Given the description of an element on the screen output the (x, y) to click on. 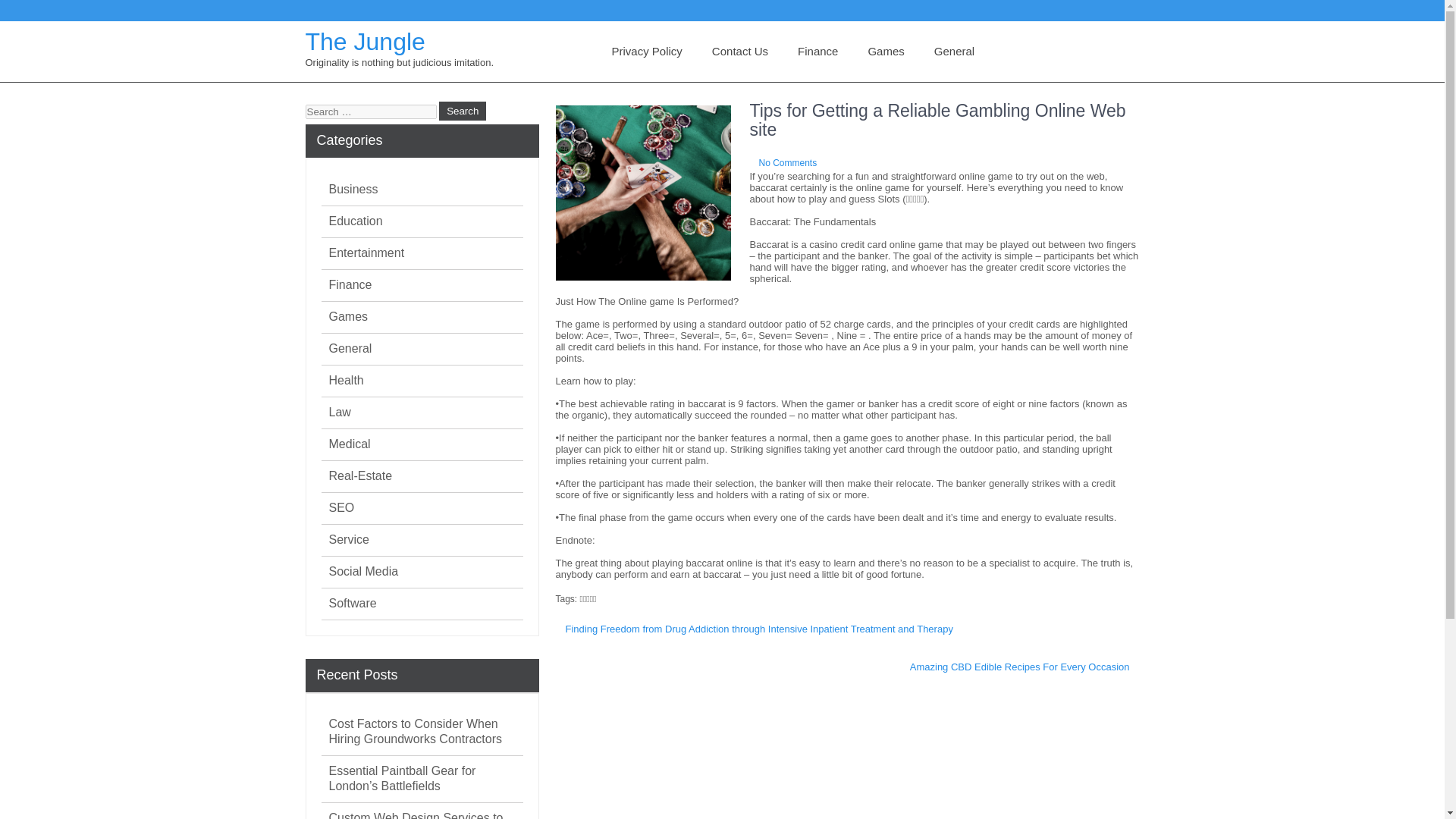
Contact Us (740, 51)
Finance (350, 284)
Amazing CBD Edible Recipes For Every Occasion (1019, 666)
No Comments (787, 163)
Privacy Policy (646, 51)
Entertainment (366, 253)
Health (346, 380)
Software (353, 603)
Law (339, 412)
General (350, 348)
Service (349, 539)
Search (462, 110)
Games (348, 316)
Search (462, 110)
Custom Web Design Services to Match Your Vision (425, 814)
